Given the description of an element on the screen output the (x, y) to click on. 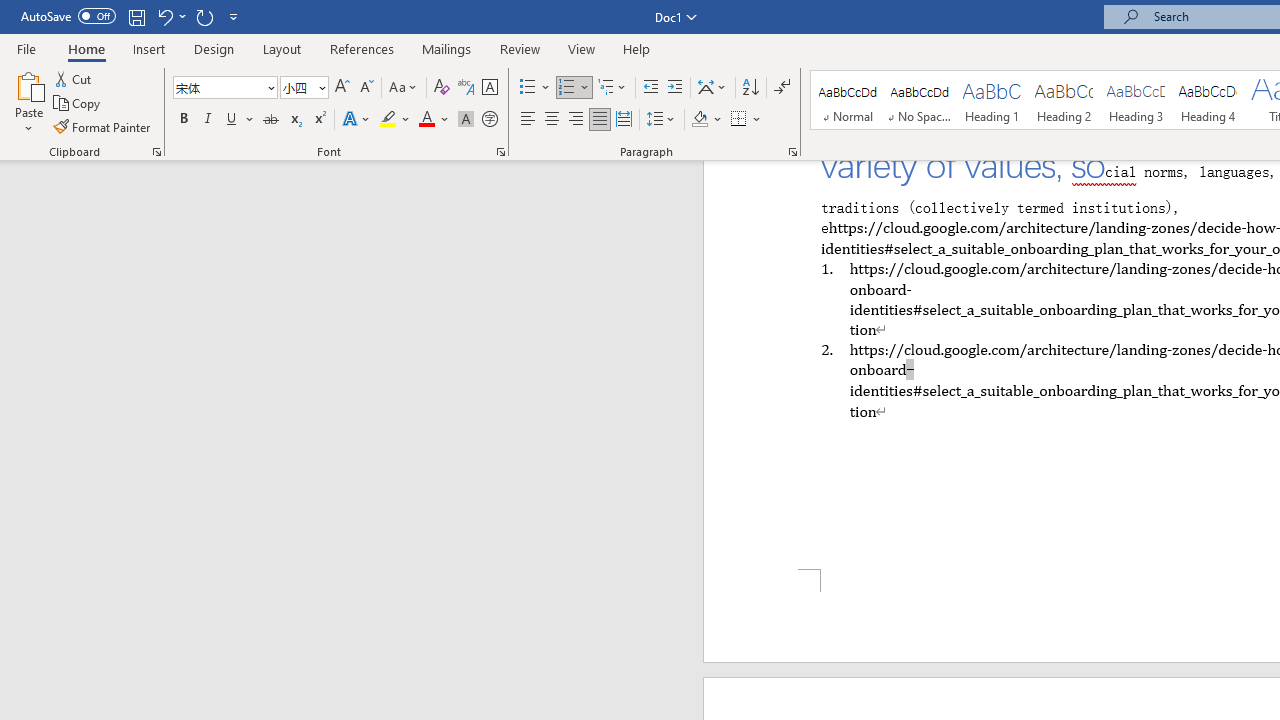
Bullets (527, 87)
Font Color (434, 119)
Font Size (304, 87)
View (582, 48)
Shading RGB(0, 0, 0) (699, 119)
Font (224, 87)
File Tab (26, 48)
Review (520, 48)
Save (136, 15)
Subscript (294, 119)
Text Highlight Color Yellow (388, 119)
Paragraph... (792, 151)
Heading 3 (1135, 100)
Repeat Style (204, 15)
Paste (28, 102)
